Given the description of an element on the screen output the (x, y) to click on. 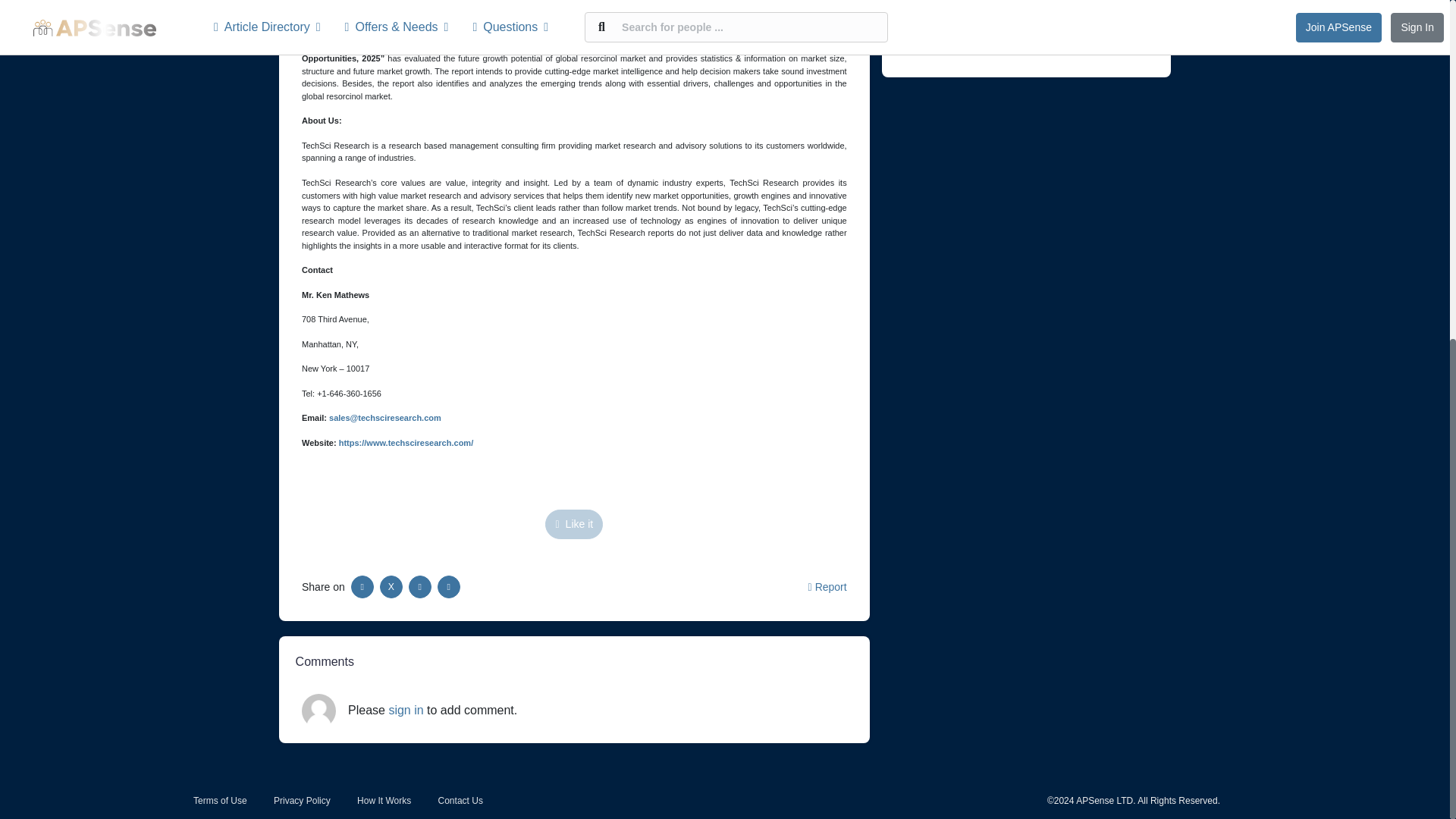
X (391, 586)
Like it (573, 523)
Report (827, 586)
sign in (405, 709)
